Given the description of an element on the screen output the (x, y) to click on. 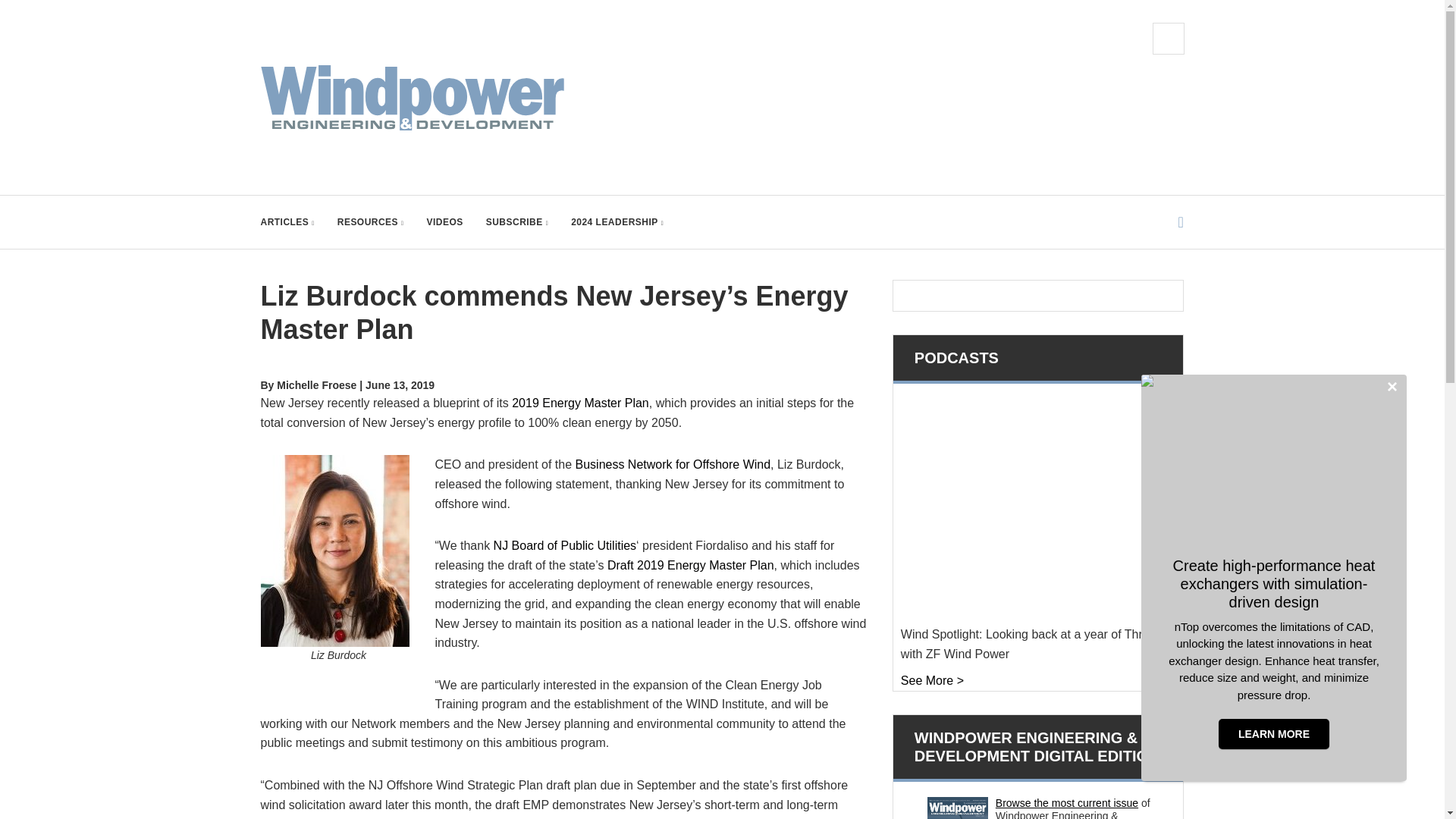
2019 Energy Master Plan (580, 402)
2024 LEADERSHIP (616, 221)
Business Network for Offshore Wind (672, 463)
RESOURCES (370, 221)
Draft 2019 Energy Master Plan (690, 564)
ARTICLES (287, 221)
NJ Board of Public Utilities (565, 545)
Michelle Froese (316, 385)
SUBSCRIBE (517, 221)
